Given the description of an element on the screen output the (x, y) to click on. 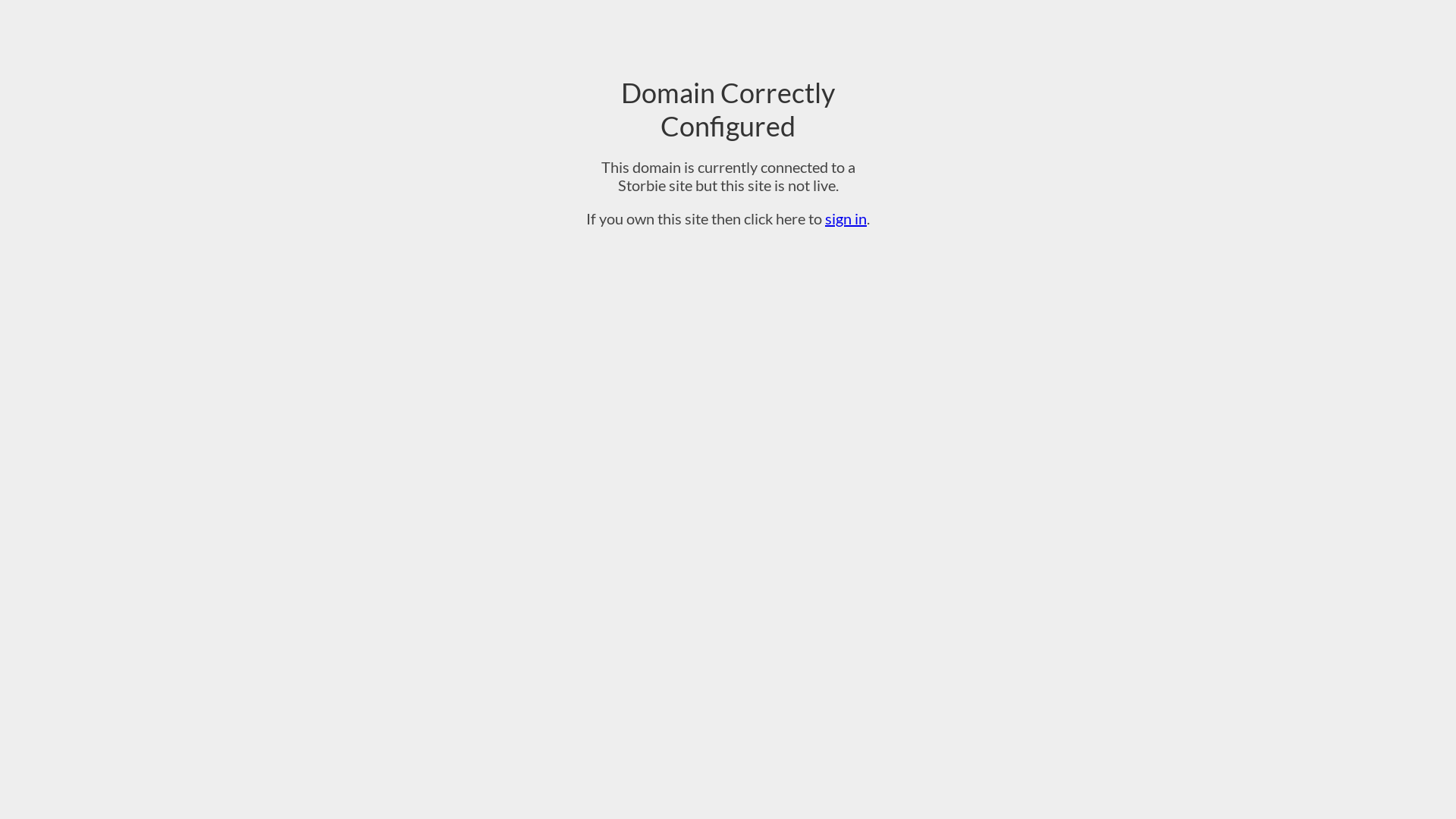
sign in Element type: text (845, 218)
